Given the description of an element on the screen output the (x, y) to click on. 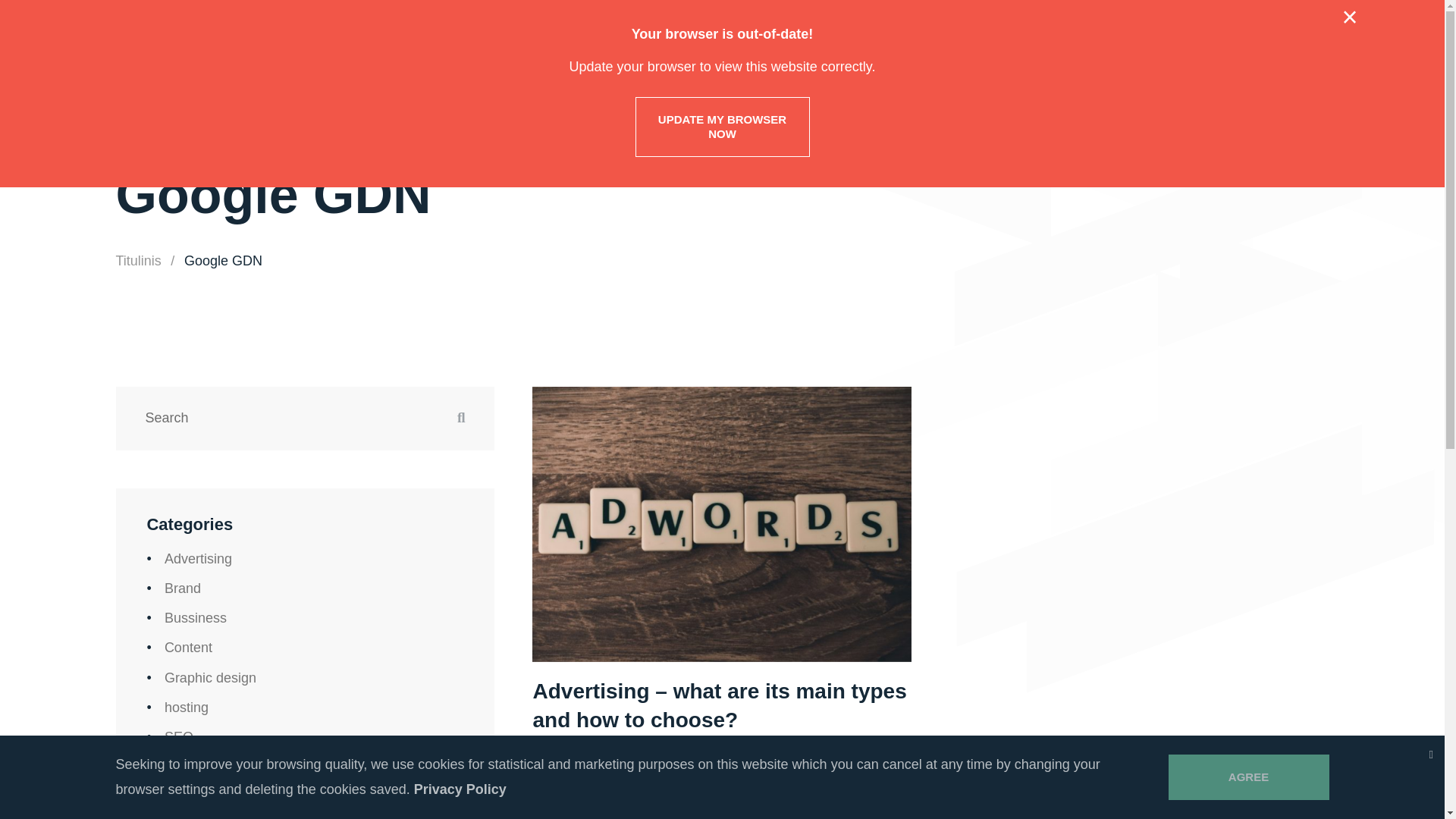
ABOUT US (767, 67)
SEO (178, 736)
Adveits (167, 53)
hosting (186, 707)
Titulinis (137, 260)
CAREER (1077, 67)
Social Media (203, 766)
HOME (680, 67)
EN (1289, 33)
STORE (1179, 67)
LT (1321, 33)
GET AN OFFER (1284, 67)
Contacts (981, 67)
CONTACTS (981, 67)
Advertising (197, 557)
